Given the description of an element on the screen output the (x, y) to click on. 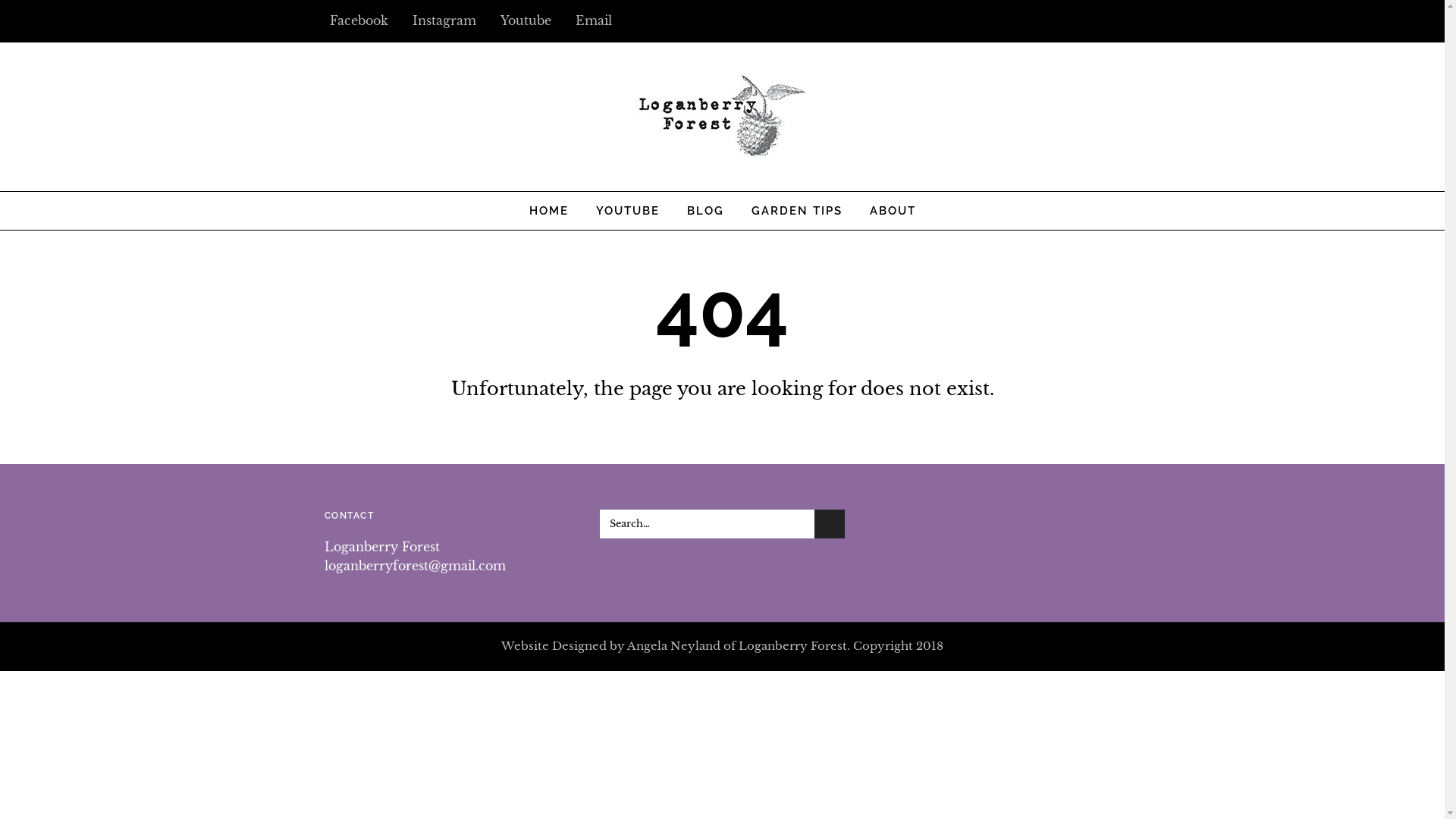
Facebook Element type: text (356, 20)
Youtube Element type: text (522, 20)
BLOG Element type: text (705, 210)
HOME Element type: text (548, 210)
GARDEN TIPS Element type: text (795, 210)
Email Element type: text (590, 20)
loganberryforest@gmail.com Element type: text (414, 565)
Instagram Element type: text (440, 20)
ABOUT Element type: text (891, 210)
Loganberry Forest - Permaculture Homestead Element type: hover (722, 149)
YOUTUBE Element type: text (627, 210)
